Given the description of an element on the screen output the (x, y) to click on. 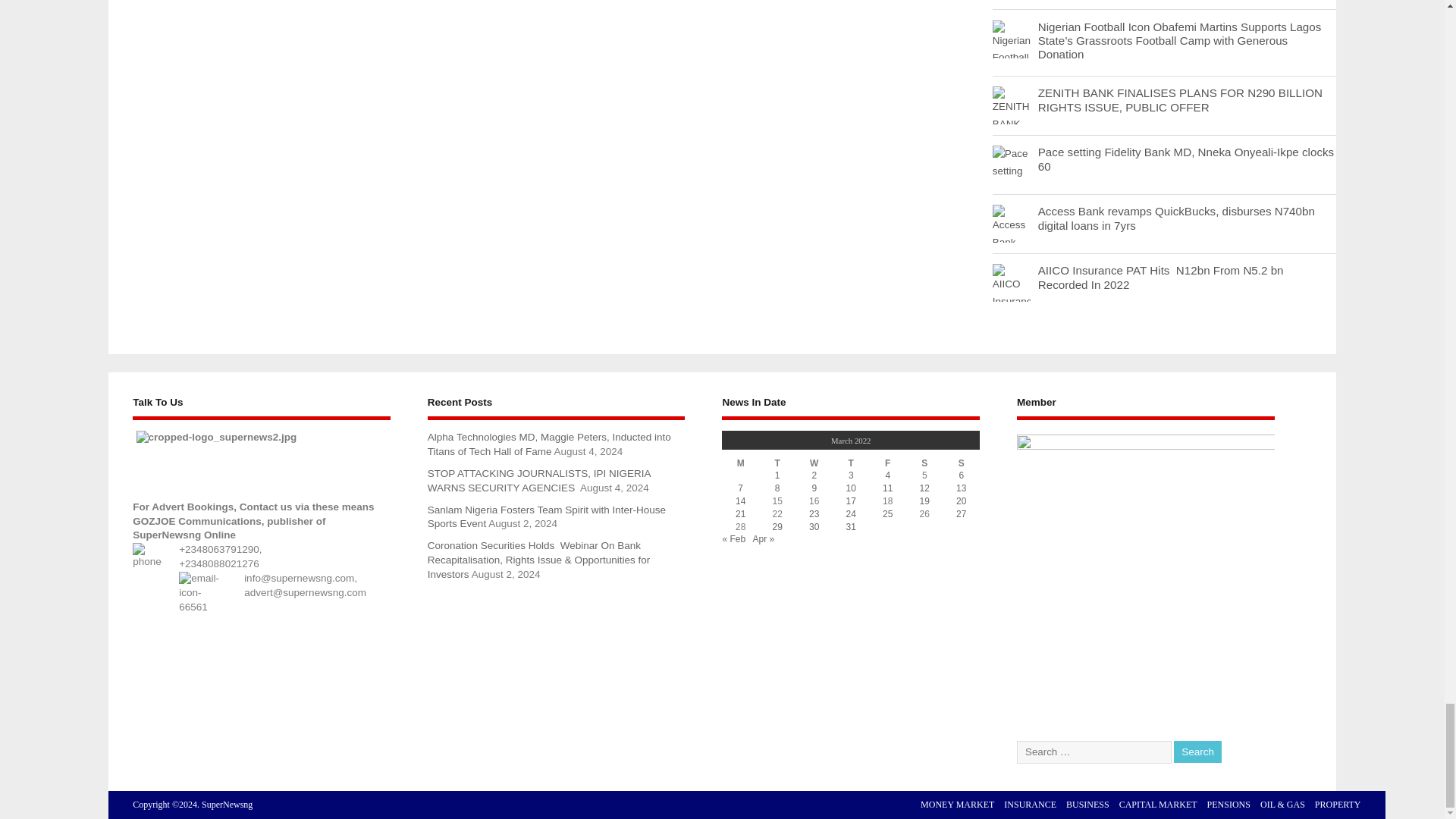
Search (1197, 751)
Search (1197, 751)
